Given the description of an element on the screen output the (x, y) to click on. 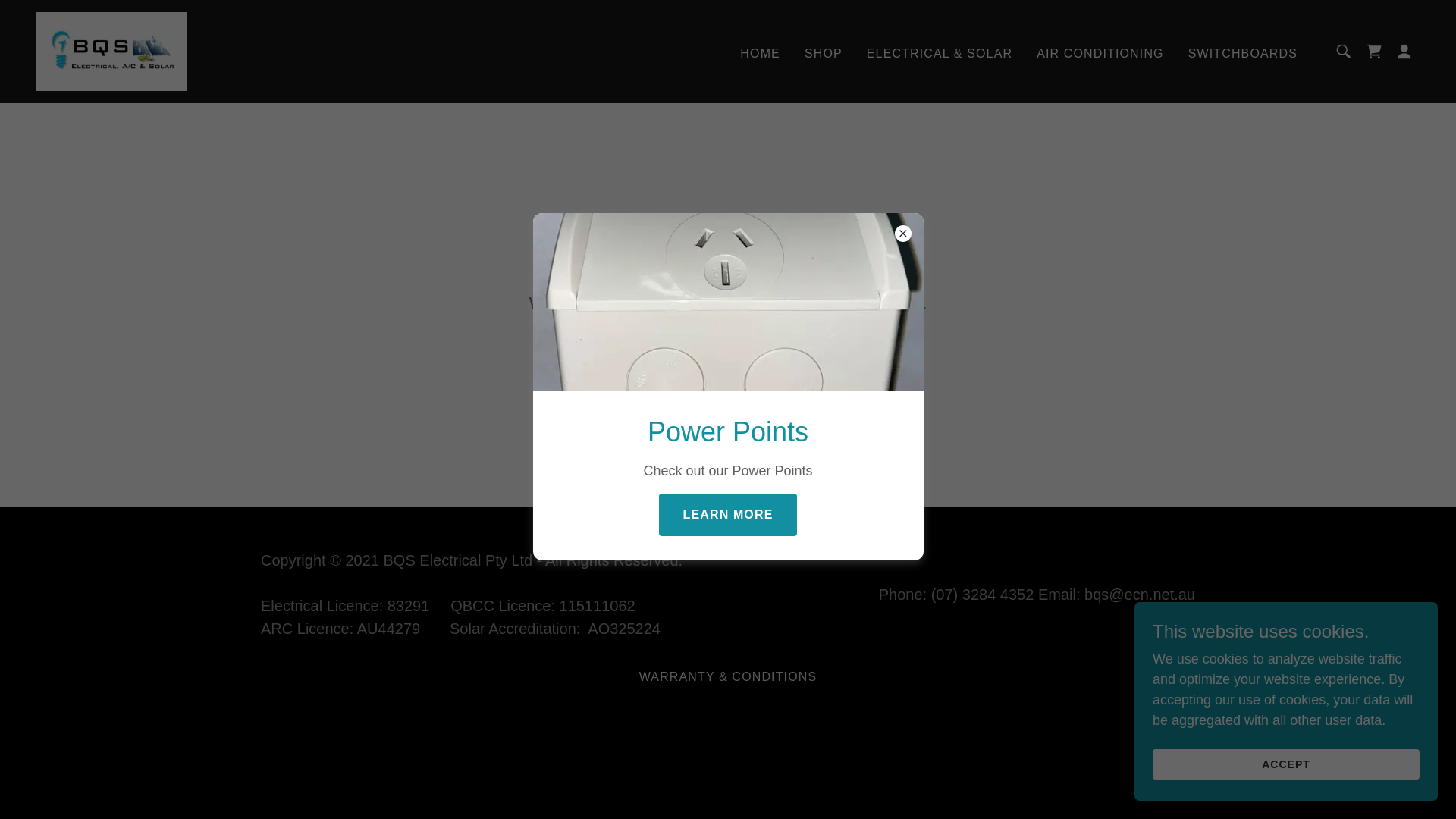
BQS Electrical Pty Ltd Element type: hover (111, 50)
LEARN MORE Element type: text (727, 514)
HOME Element type: text (759, 52)
ELECTRICAL & SOLAR Element type: text (939, 52)
SHOP Element type: text (823, 52)
ACCEPT Element type: text (1285, 764)
GO TO HOME PAGE Element type: text (727, 362)
AIR CONDITIONING Element type: text (1100, 52)
WARRANTY & CONDITIONS Element type: text (728, 677)
SWITCHBOARDS Element type: text (1242, 52)
